Given the description of an element on the screen output the (x, y) to click on. 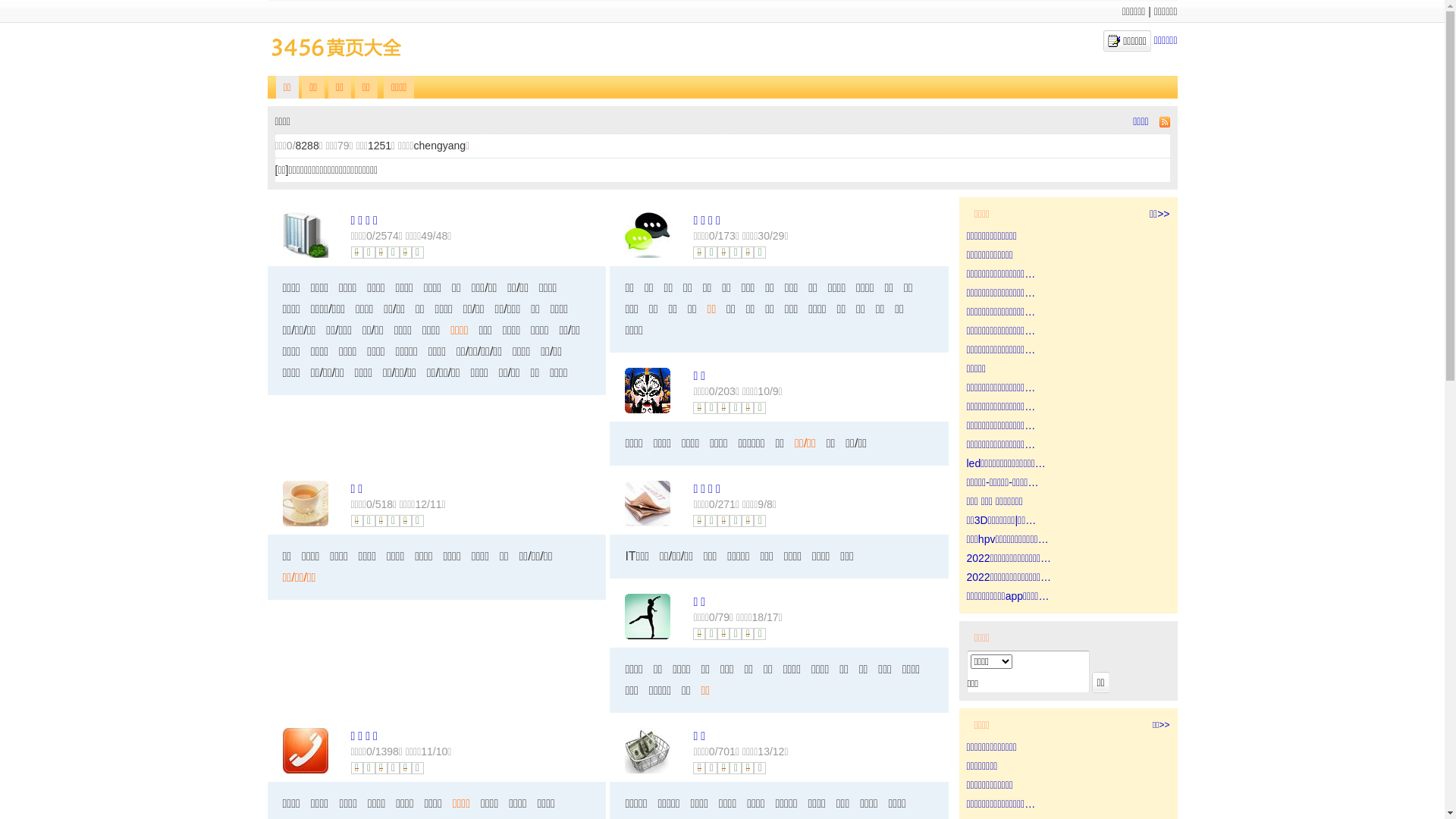
  Element type: text (1163, 121)
chengyang Element type: text (440, 145)
1251 Element type: text (379, 145)
8288 Element type: text (307, 145)
